Given the description of an element on the screen output the (x, y) to click on. 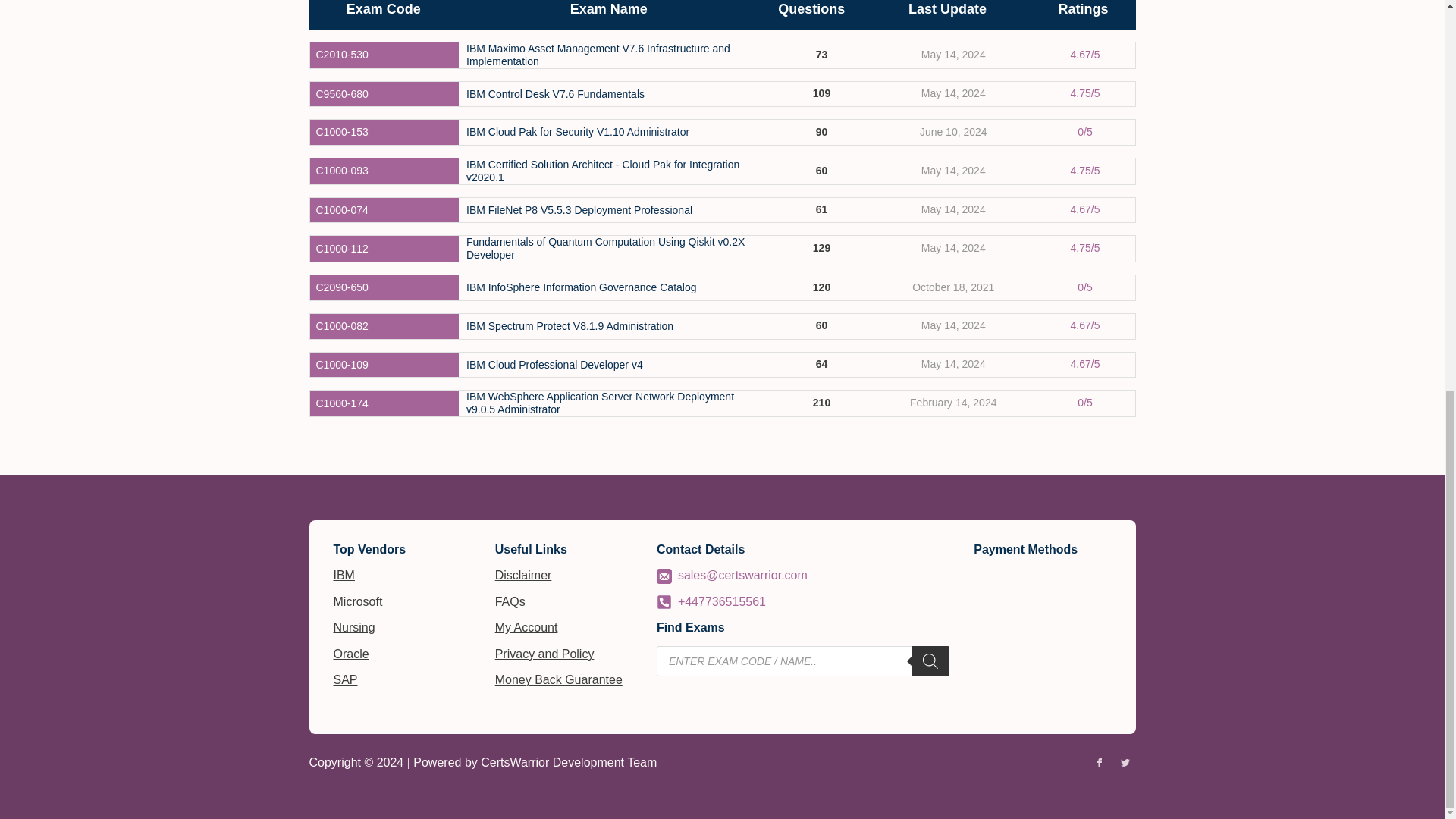
IBM Spectrum Protect V8.1.9 Administration (568, 326)
C1000-112 (341, 248)
IBM Cloud Professional Developer v4 (554, 364)
IBM Cloud Pak for Security V1.10 Administrator (576, 132)
IBM FileNet P8 V5.5.3 Deployment Professional (579, 210)
IBM Control Desk V7.6 Fundamentals (555, 92)
C1000-074 (341, 210)
